Given the description of an element on the screen output the (x, y) to click on. 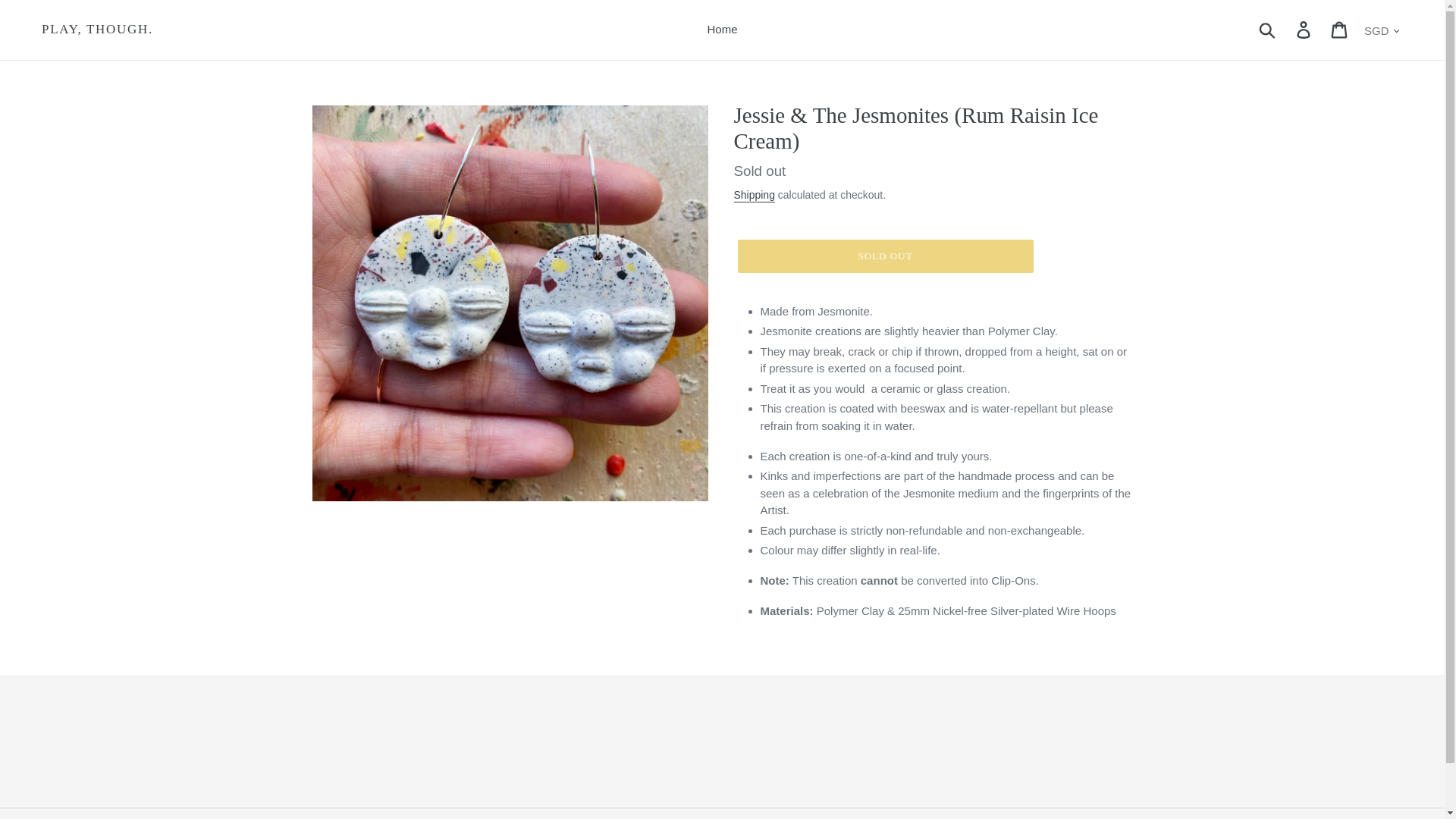
Log in (1304, 29)
Cart (1340, 29)
SOLD OUT (884, 255)
PLAY, THOUGH. (97, 29)
Submit (1268, 29)
Home (721, 29)
Shipping (753, 195)
